Given the description of an element on the screen output the (x, y) to click on. 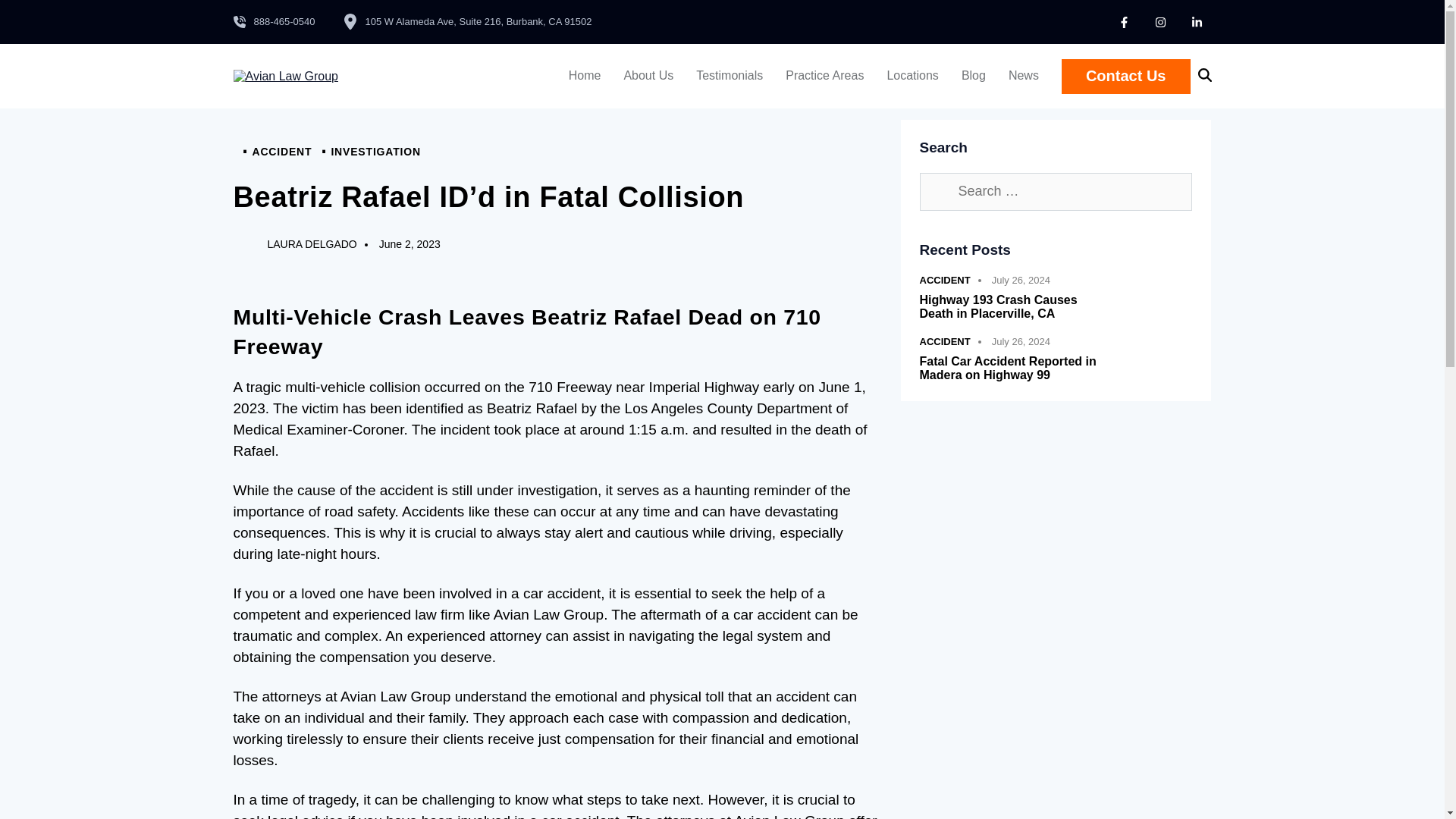
Locations (912, 76)
Search (937, 191)
Search (937, 191)
Practice Areas (824, 76)
888-465-0540 (273, 21)
Avian Law Group (284, 75)
About Us (647, 76)
105 W Alameda Ave, Suite 216, Burbank, CA 91502 (467, 21)
Testimonials (729, 76)
Home (584, 76)
